Given the description of an element on the screen output the (x, y) to click on. 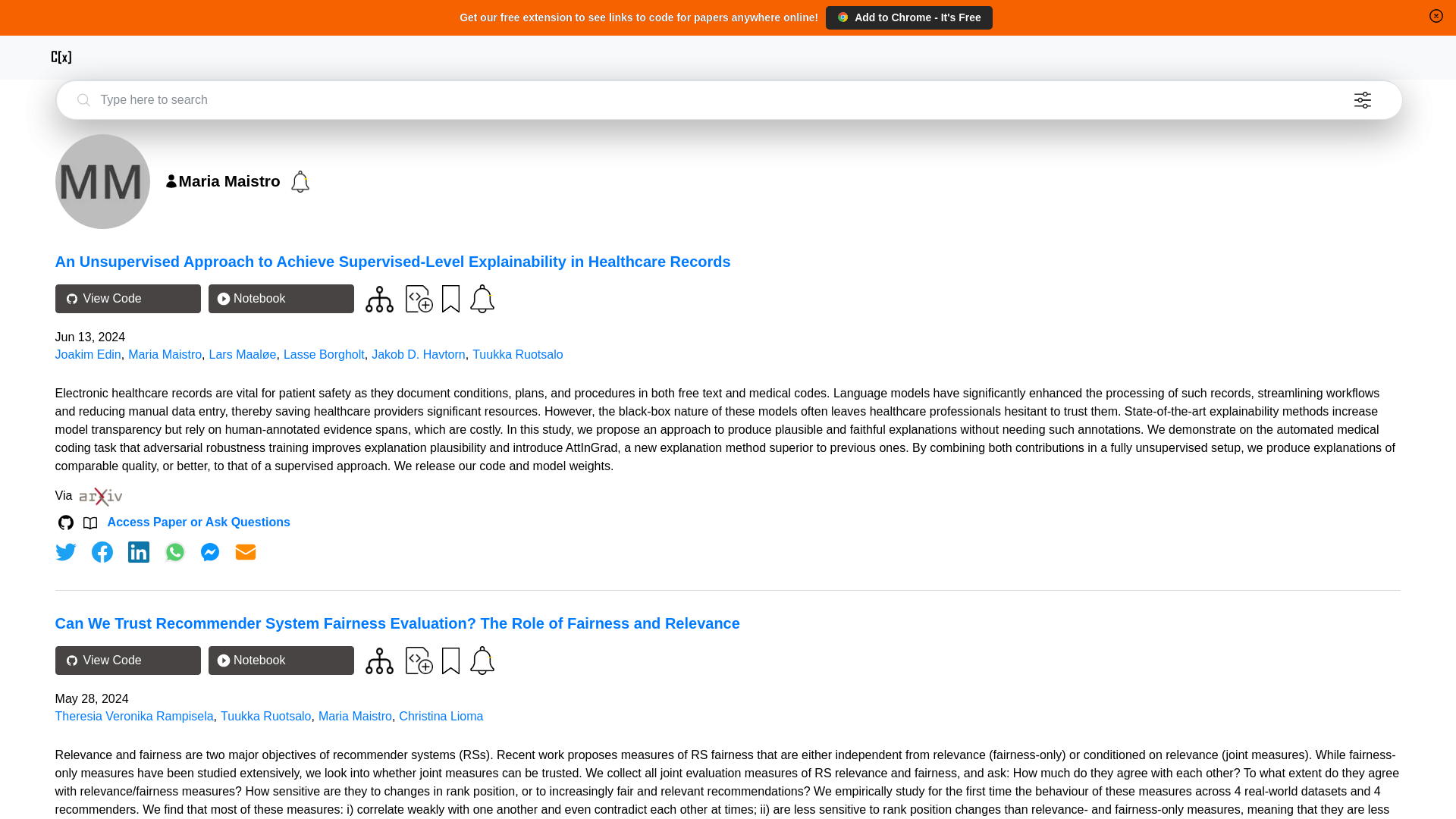
View code for similar papers (379, 660)
Add to Chrome - It's Free (908, 17)
Maria Maistro (165, 354)
Contribute your code for this paper to the community (419, 298)
Lasse Borgholt (324, 354)
Joakim Edin (87, 354)
View Code (127, 298)
Maria Maistro (354, 716)
Jakob D. Havtorn (418, 354)
Access Paper or Ask Questions (198, 522)
Notebook (280, 298)
Tuukka Ruotsalo (266, 716)
Christina Lioma (440, 716)
